Given the description of an element on the screen output the (x, y) to click on. 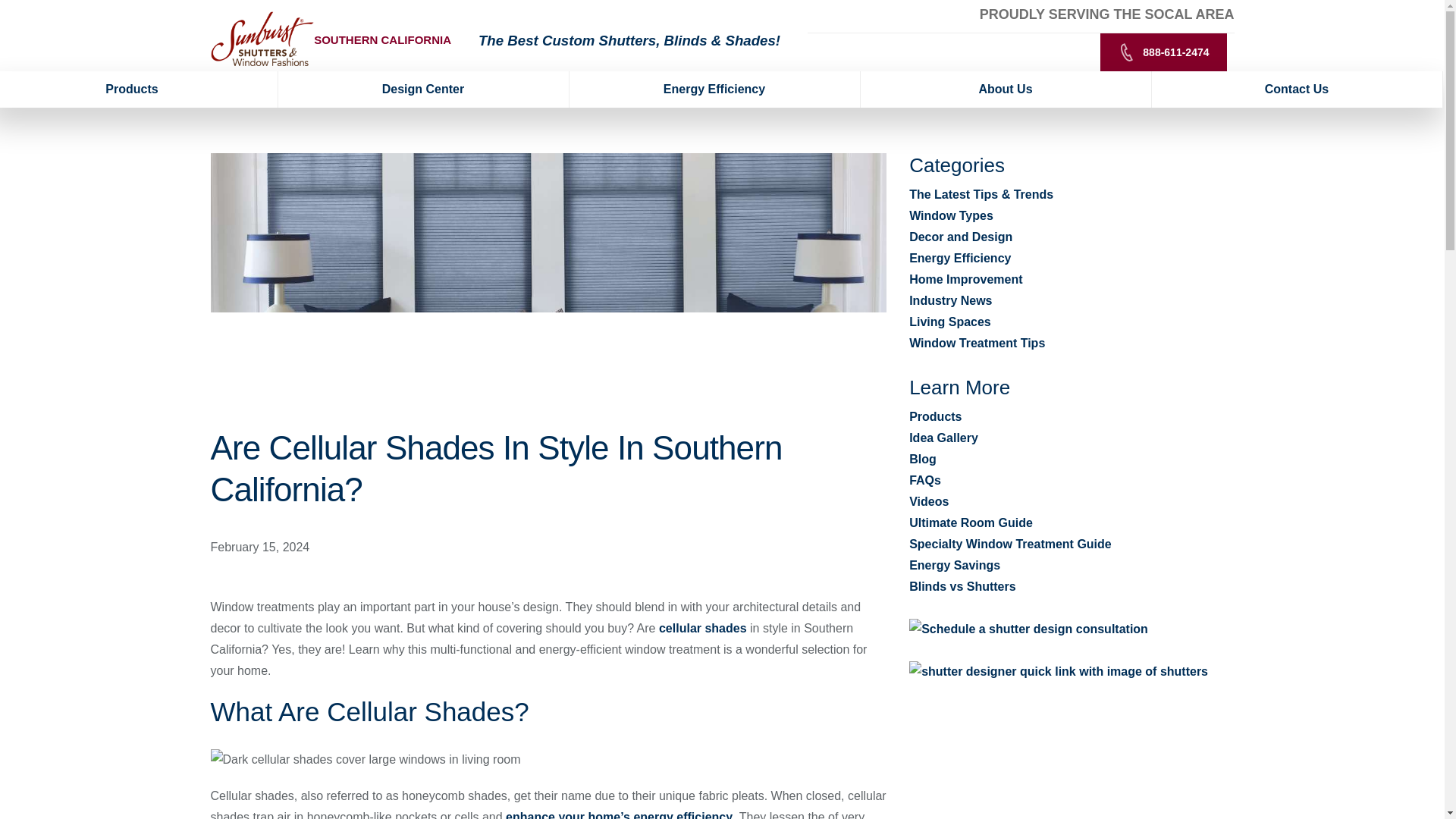
Design Center (423, 89)
Products (139, 89)
888-611-2474 (1162, 52)
Sunburst Shutters Southern CA Home (262, 38)
